Given the description of an element on the screen output the (x, y) to click on. 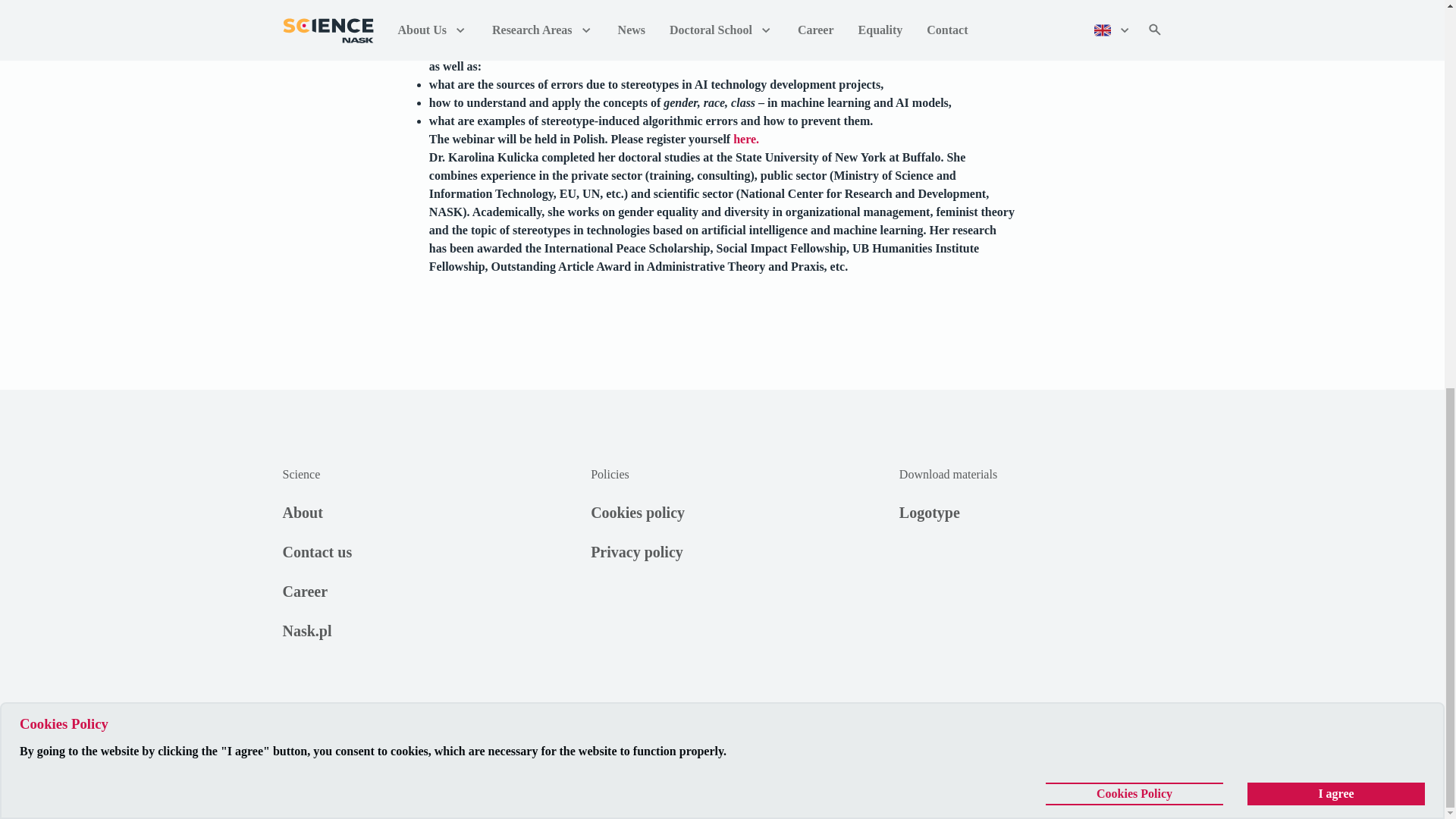
Logotype (1030, 512)
Cookies policy (637, 512)
Nask.pl (413, 630)
Career (413, 590)
Privacy policy (636, 551)
Cookies Policy (1134, 56)
I agree (1336, 56)
About (413, 512)
here. (745, 138)
Contact us (413, 551)
